Given the description of an element on the screen output the (x, y) to click on. 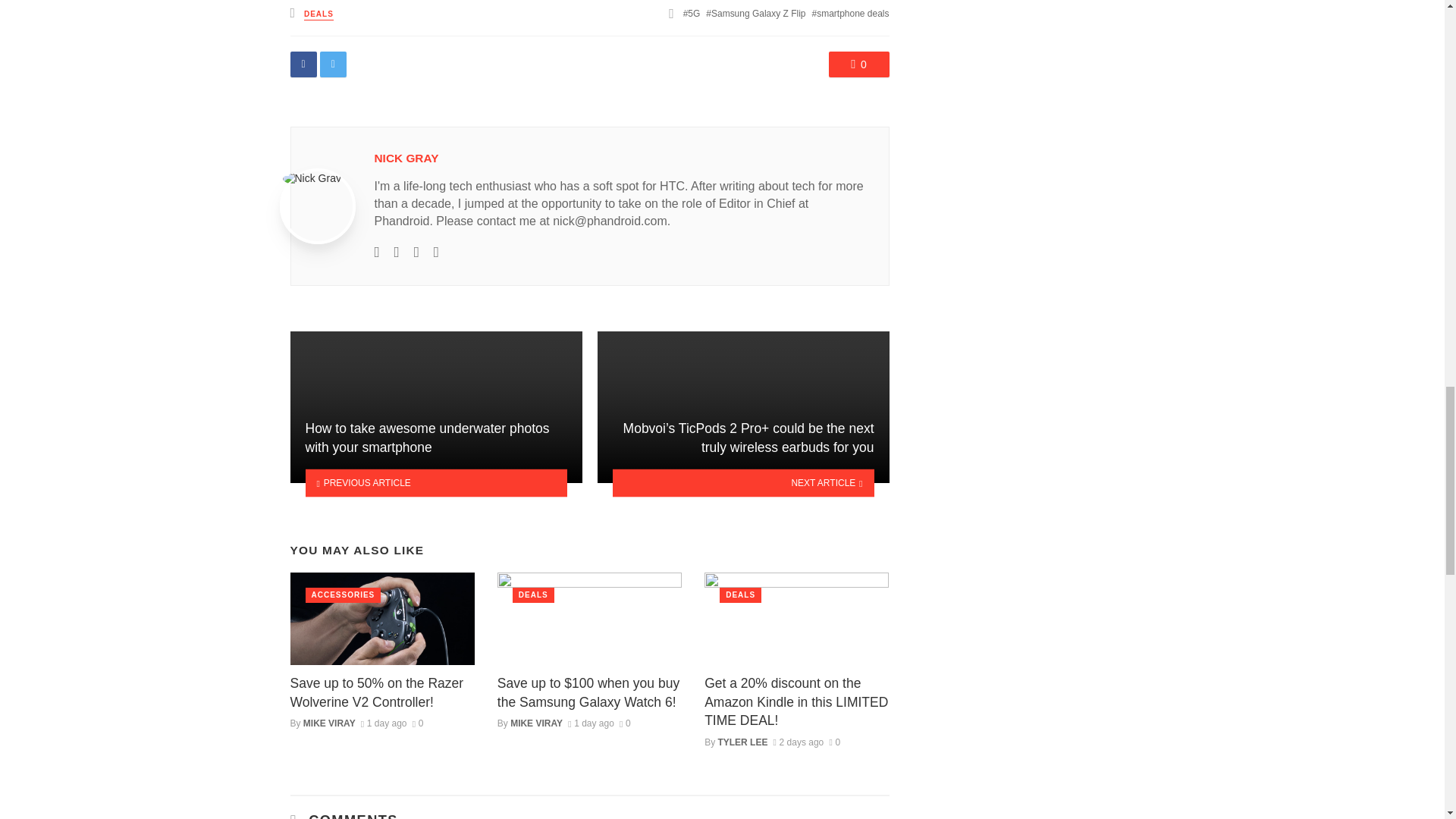
Share on Twitter (333, 63)
Share on Facebook (302, 63)
Posts by Nick Gray (406, 157)
0 (858, 63)
0 Comments (625, 723)
NICK GRAY (406, 157)
DEALS (318, 14)
August 30, 2024 at 5:46 pm (384, 723)
August 30, 2024 at 5:37 pm (590, 723)
0 Comments (834, 742)
